Given the description of an element on the screen output the (x, y) to click on. 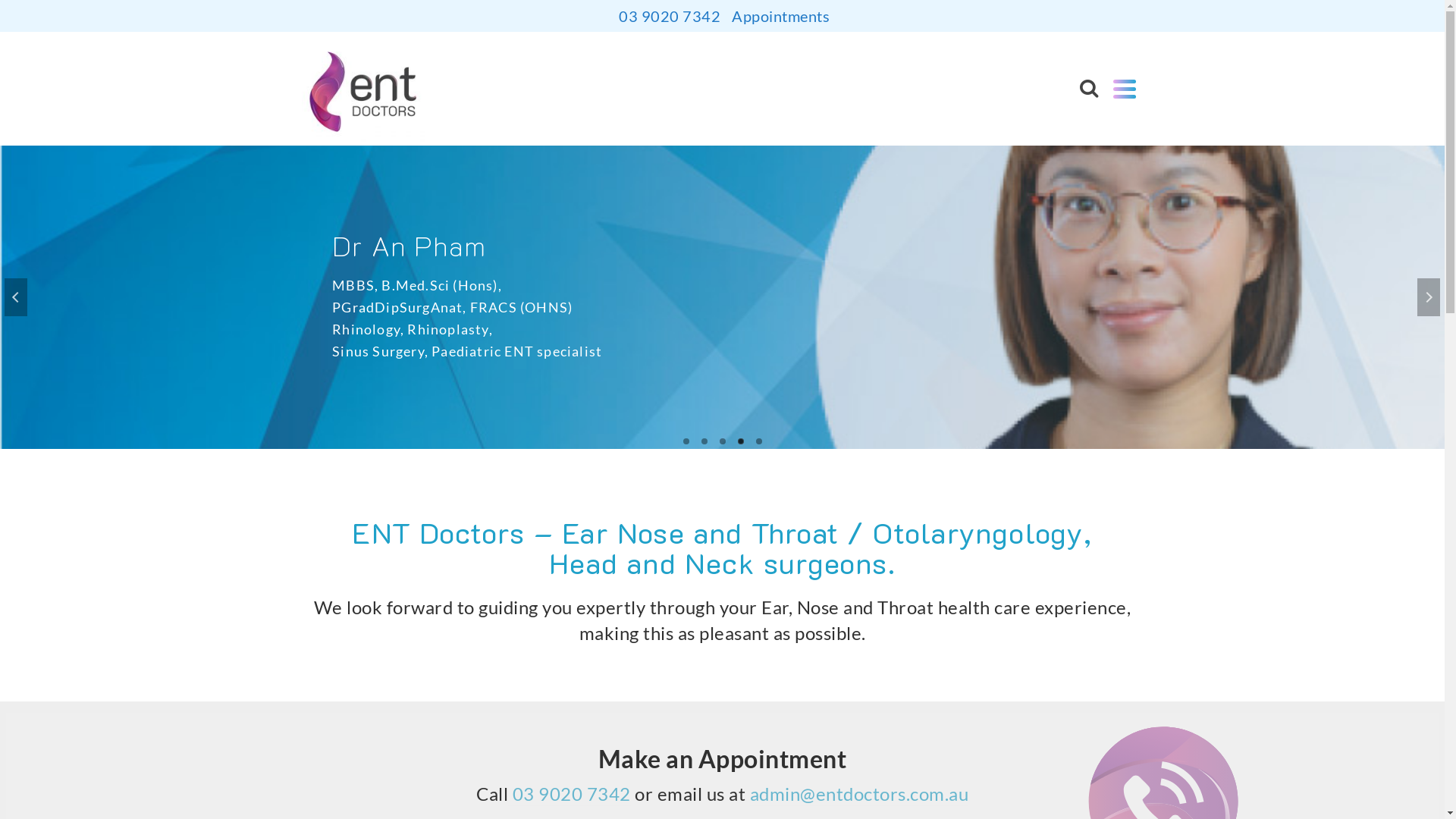
2 Element type: text (703, 440)
03 9020 7342 Element type: text (667, 15)
4 Element type: text (739, 440)
Previous Element type: text (15, 297)
Appointments Element type: text (778, 15)
5 Element type: text (757, 440)
1 Element type: text (685, 440)
03 9020 7342 Element type: text (569, 794)
3 Element type: text (721, 440)
admin@entdoctors.com.au Element type: text (858, 794)
Next Element type: text (1428, 297)
